Given the description of an element on the screen output the (x, y) to click on. 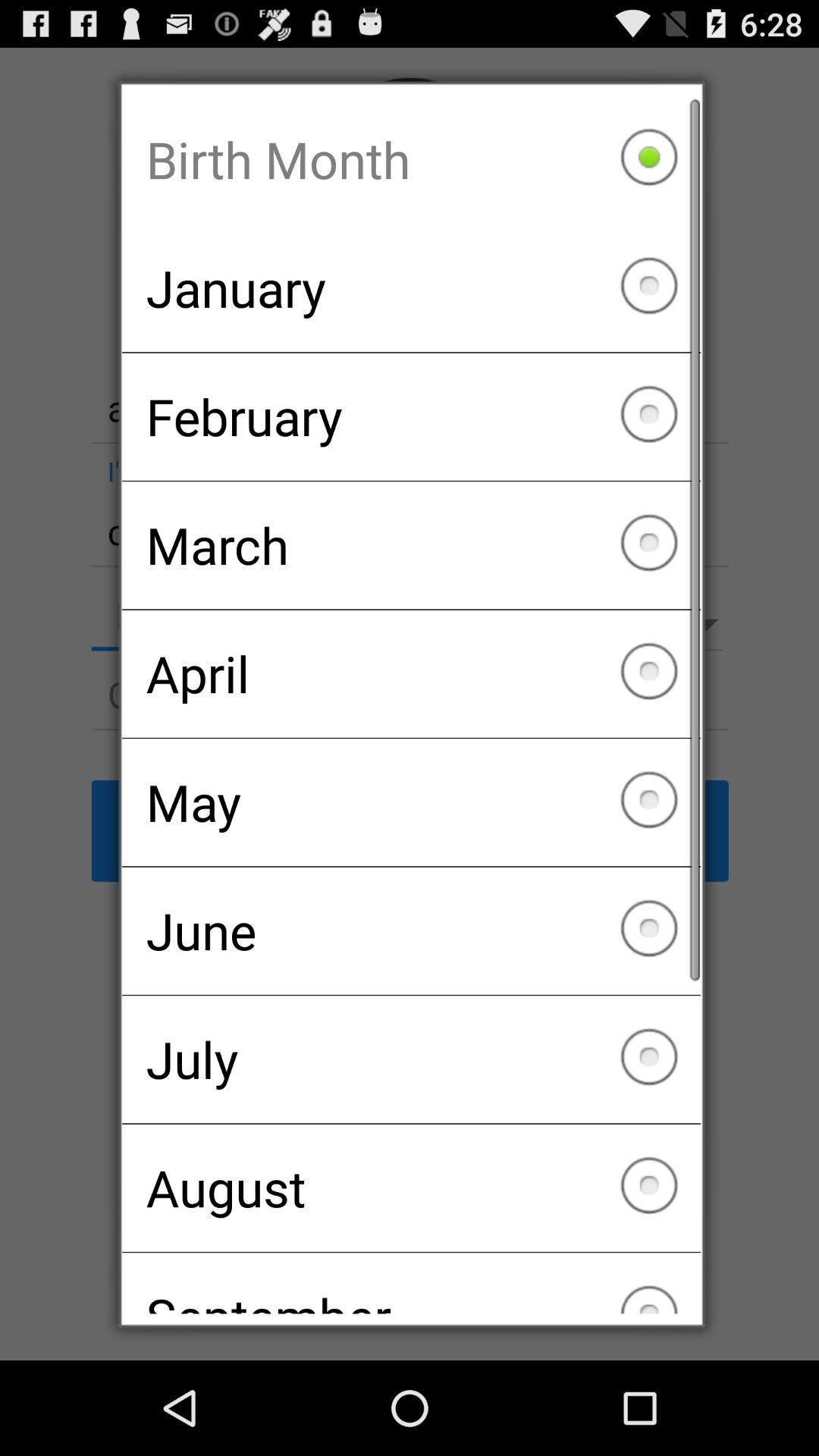
press the march checkbox (411, 545)
